Given the description of an element on the screen output the (x, y) to click on. 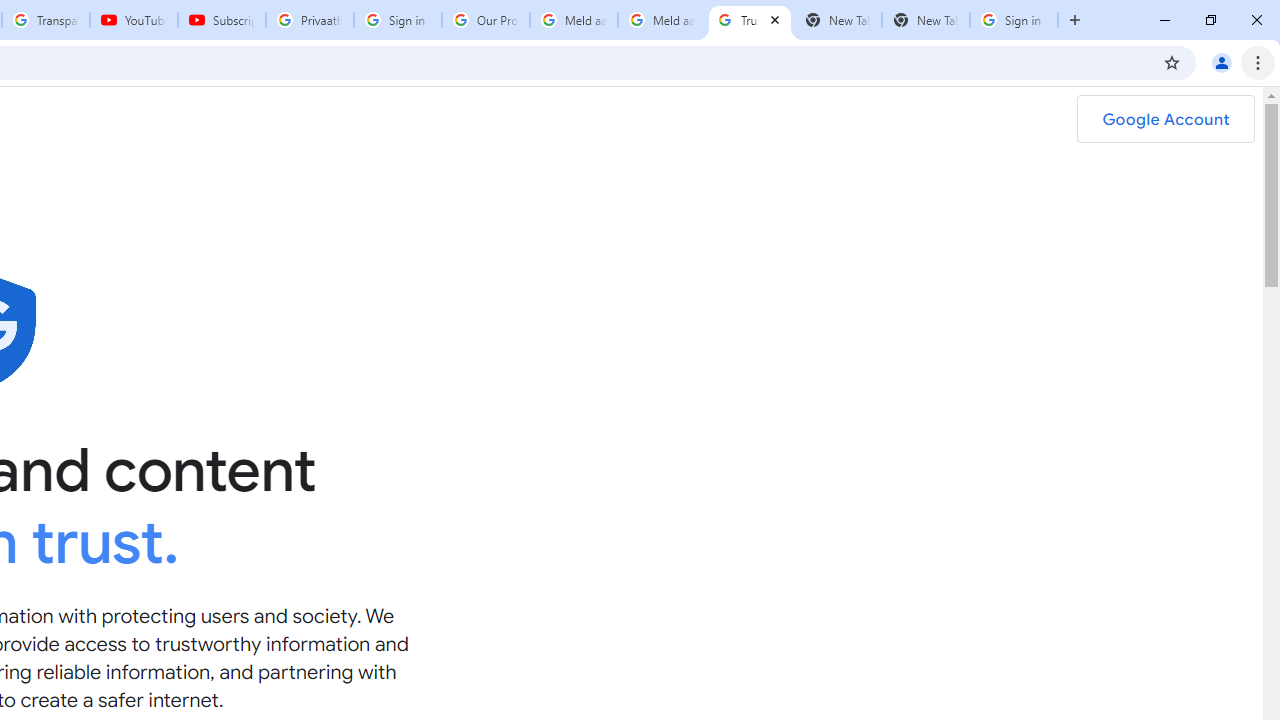
YouTube (133, 20)
Subscriptions - YouTube (221, 20)
